Given the description of an element on the screen output the (x, y) to click on. 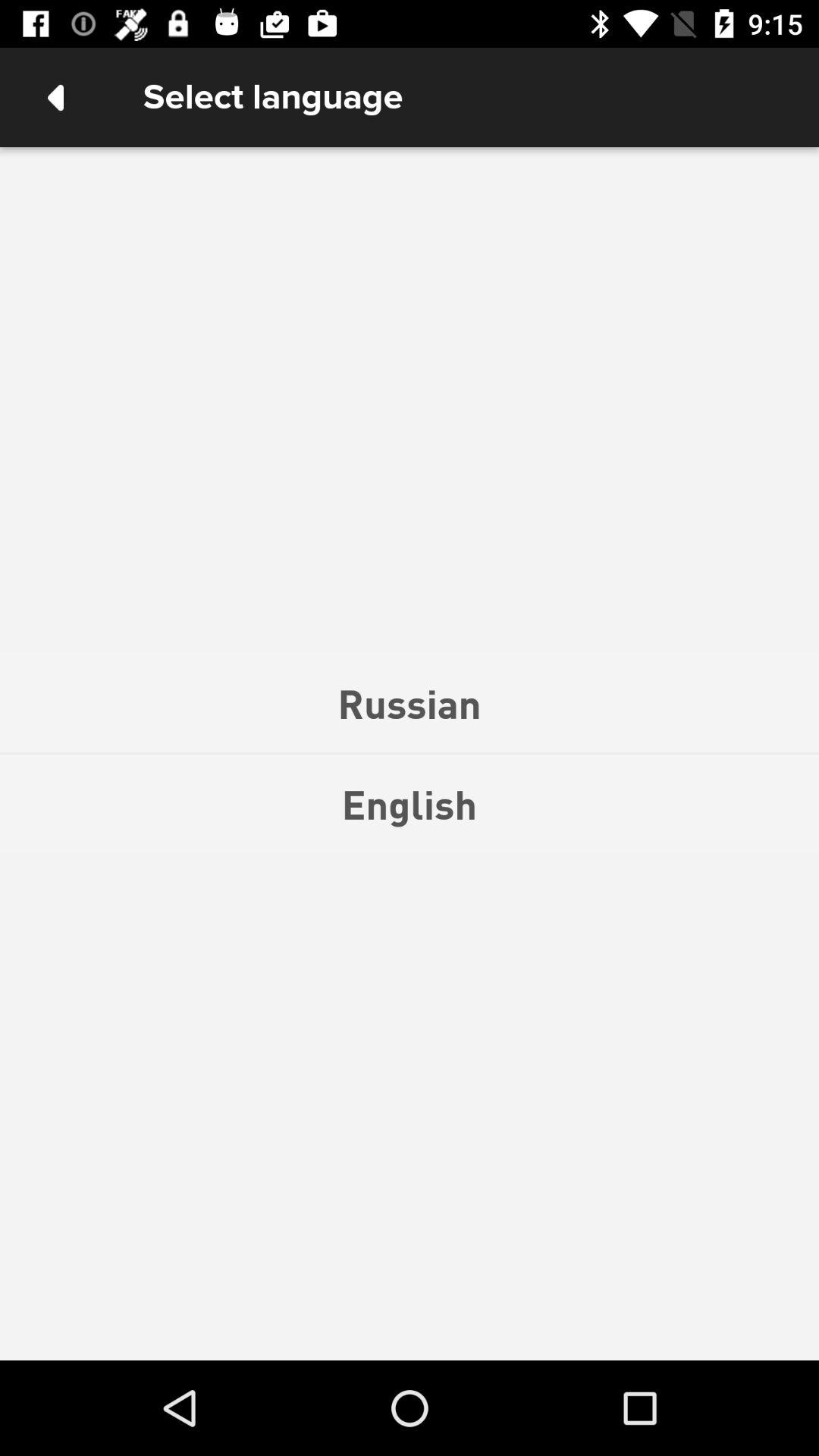
choose item at the top left corner (55, 97)
